Given the description of an element on the screen output the (x, y) to click on. 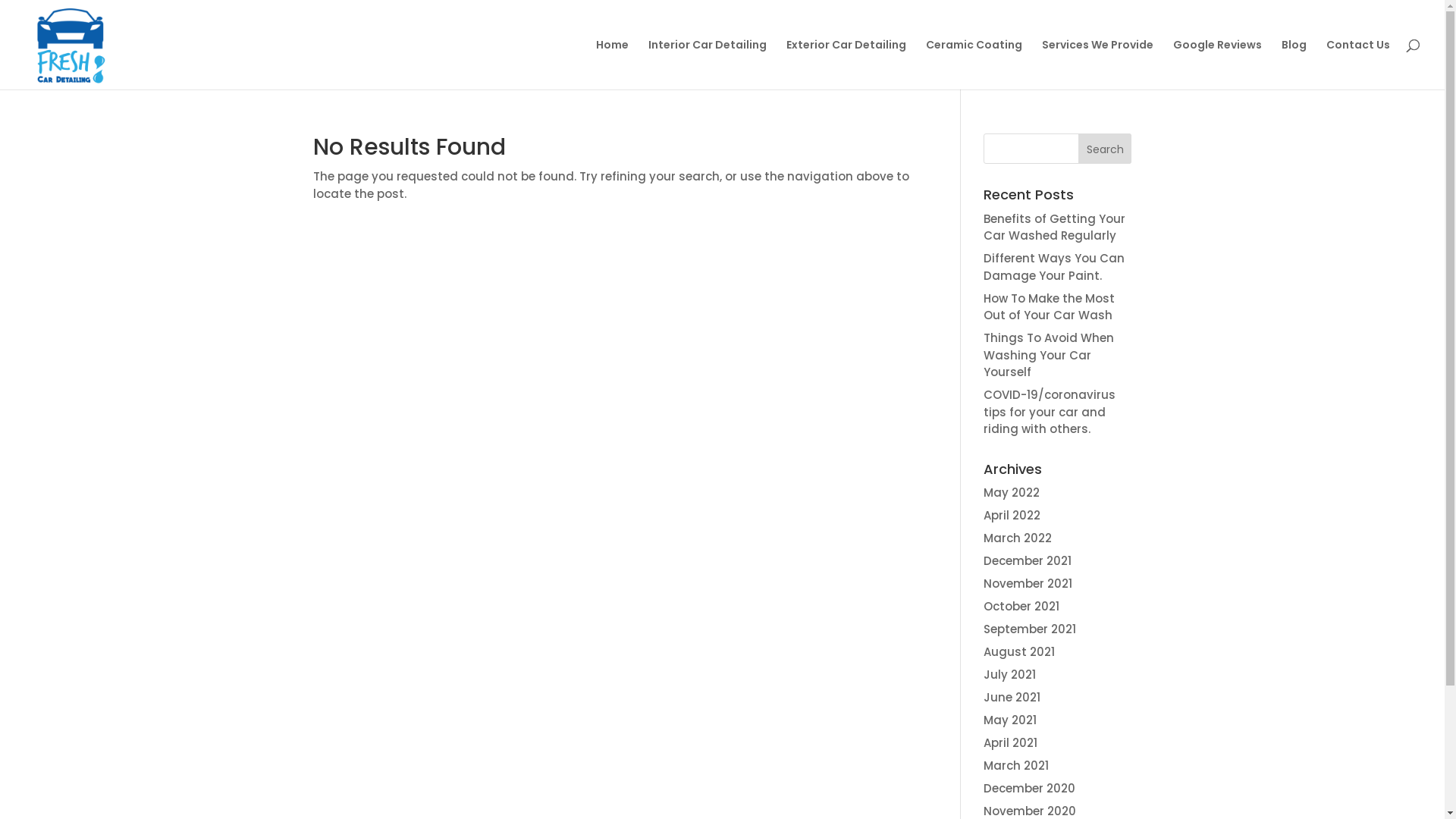
Things To Avoid When Washing Your Car Yourself Element type: text (1048, 354)
Exterior Car Detailing Element type: text (846, 64)
Blog Element type: text (1293, 64)
December 2020 Element type: text (1029, 788)
December 2021 Element type: text (1027, 560)
October 2021 Element type: text (1021, 606)
August 2021 Element type: text (1018, 651)
How To Make the Most Out of Your Car Wash Element type: text (1048, 306)
Contact Us Element type: text (1358, 64)
November 2021 Element type: text (1027, 583)
May 2022 Element type: text (1011, 492)
March 2022 Element type: text (1017, 538)
July 2021 Element type: text (1009, 674)
April 2021 Element type: text (1010, 742)
June 2021 Element type: text (1011, 697)
May 2021 Element type: text (1009, 720)
March 2021 Element type: text (1015, 765)
Interior Car Detailing Element type: text (707, 64)
Benefits of Getting Your Car Washed Regularly Element type: text (1054, 227)
Different Ways You Can Damage Your Paint. Element type: text (1053, 266)
Services We Provide Element type: text (1097, 64)
Ceramic Coating Element type: text (973, 64)
Google Reviews Element type: text (1217, 64)
Search Element type: text (1105, 148)
April 2022 Element type: text (1011, 515)
Home Element type: text (612, 64)
September 2021 Element type: text (1029, 629)
